Given the description of an element on the screen output the (x, y) to click on. 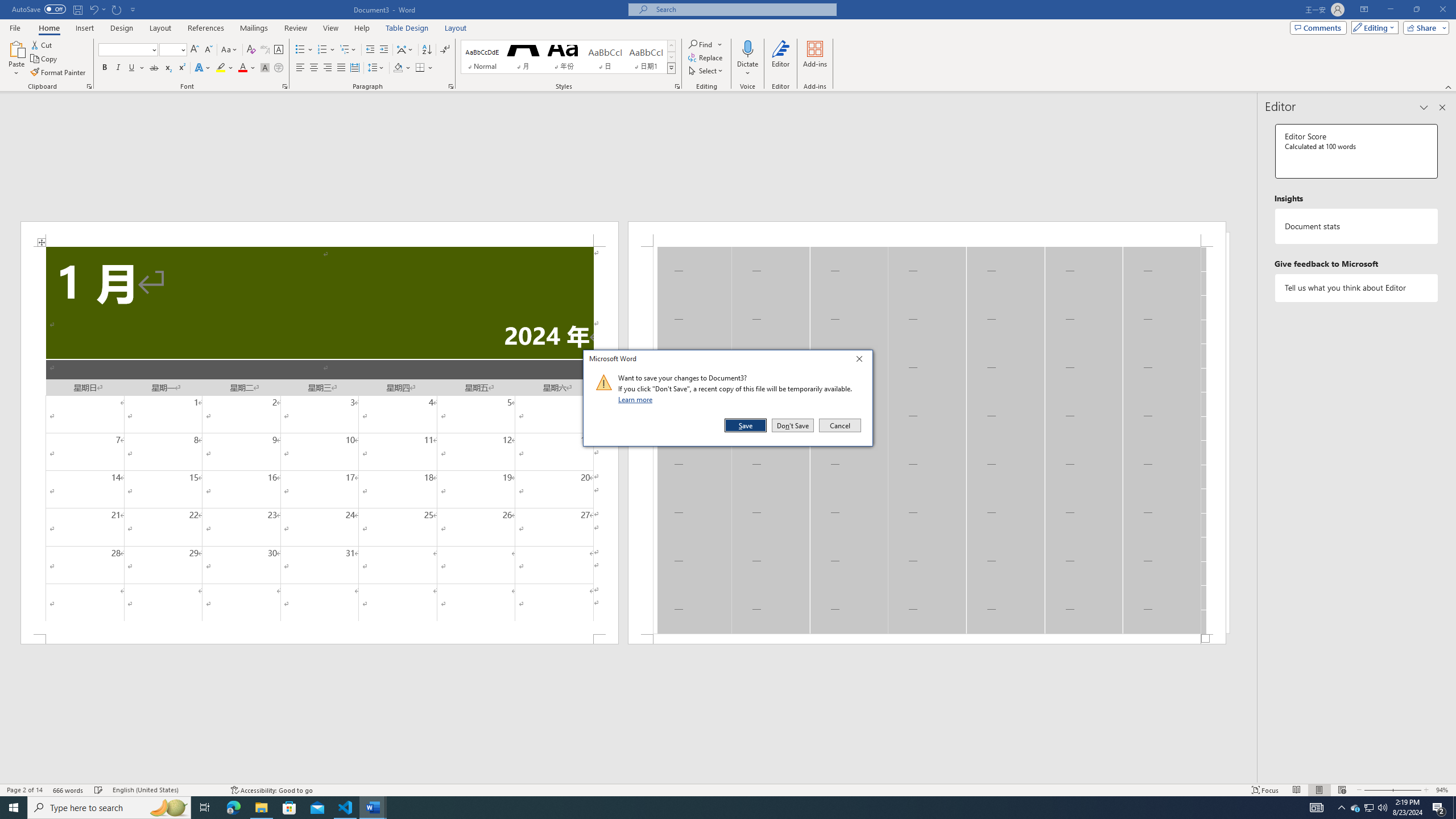
Header -Section 1- (926, 233)
